Given the description of an element on the screen output the (x, y) to click on. 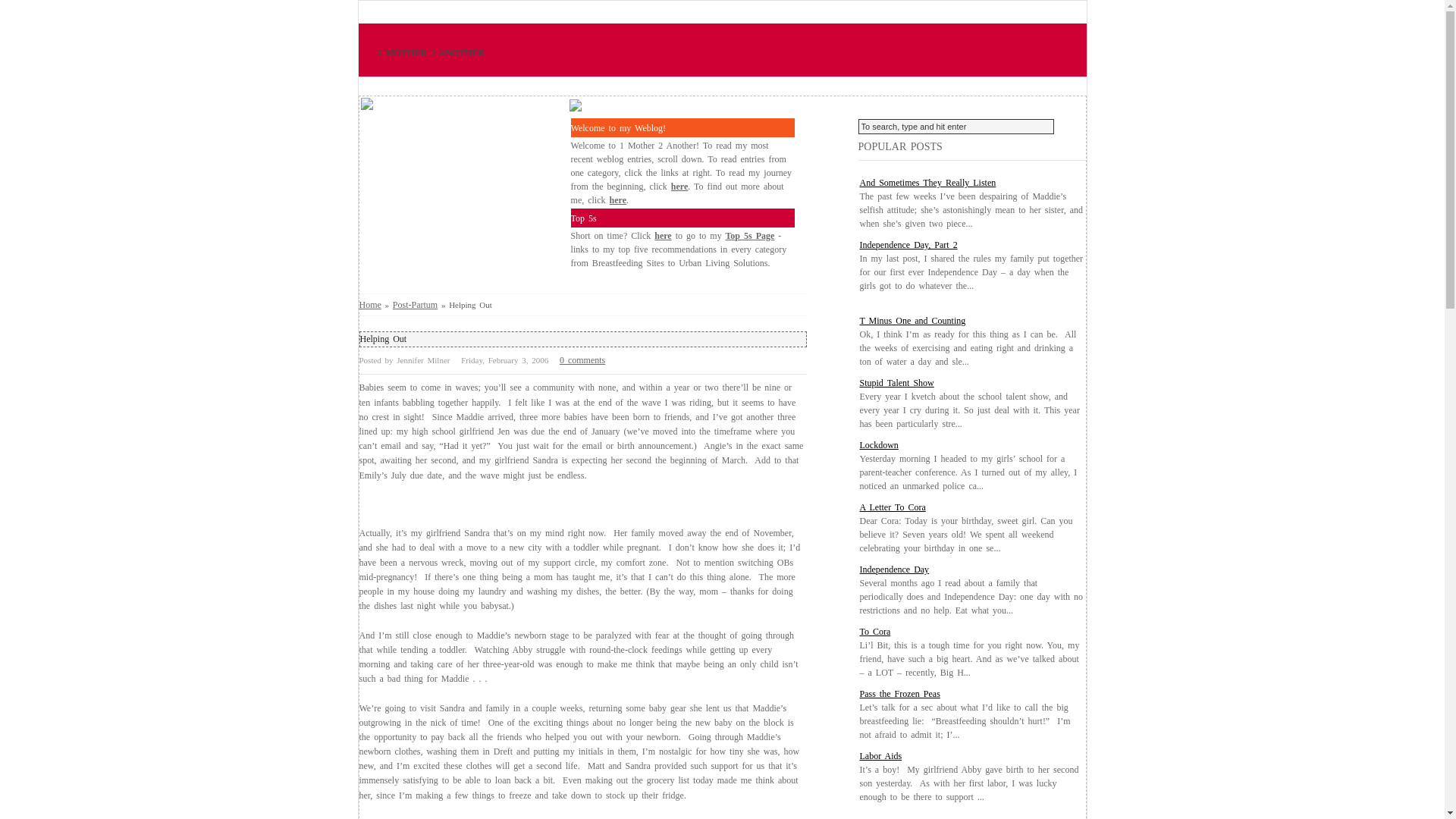
T Minus One and Counting Element type: text (912, 320)
Post-Partum Element type: text (414, 304)
here Element type: text (679, 186)
A Letter To Cora Element type: text (892, 507)
here Element type: text (617, 199)
Helping Out Element type: text (382, 338)
here Element type: text (662, 235)
Independence Day, Part 2 Element type: text (908, 244)
Lockdown Element type: text (878, 444)
To Cora Element type: text (875, 631)
0 comments Element type: text (582, 359)
Stupid Talent Show Element type: text (896, 382)
Independence Day Element type: text (894, 569)
Labor Aids Element type: text (880, 755)
Top 5s Page Element type: text (749, 235)
1 MOTHER 2 ANOTHER Element type: text (428, 52)
Pass the Frozen Peas Element type: text (899, 693)
Home Element type: text (370, 304)
And Sometimes They Really Listen Element type: text (927, 182)
